Given the description of an element on the screen output the (x, y) to click on. 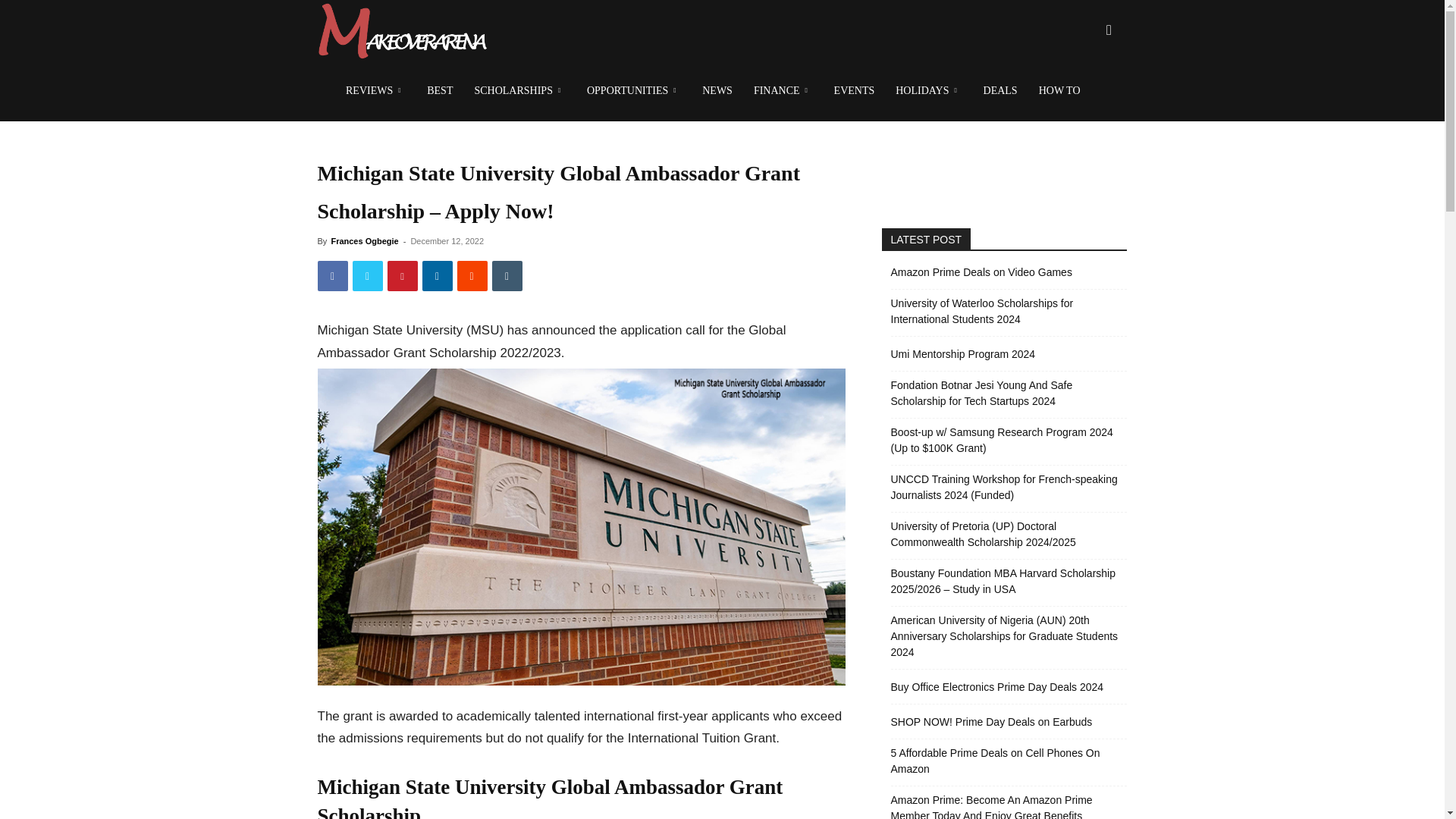
Facebook (332, 276)
Linkedin (436, 276)
Pinterest (401, 276)
Twitter (366, 276)
ReddIt (471, 276)
Tumblr (506, 276)
